Given the description of an element on the screen output the (x, y) to click on. 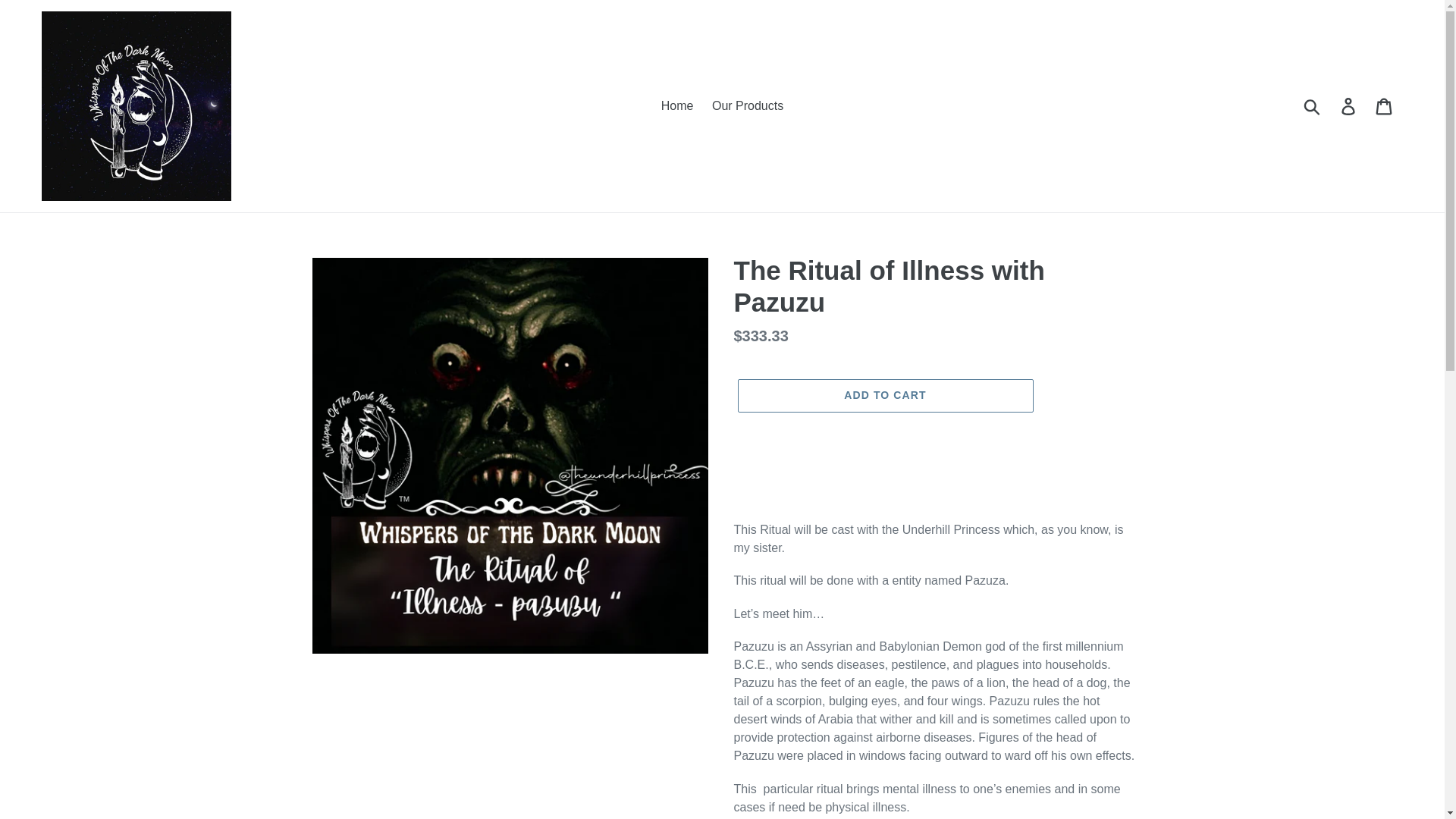
Cart (1385, 105)
Log in (1349, 105)
Home (677, 106)
Submit (1313, 105)
Our Products (747, 106)
ADD TO CART (884, 395)
